Given the description of an element on the screen output the (x, y) to click on. 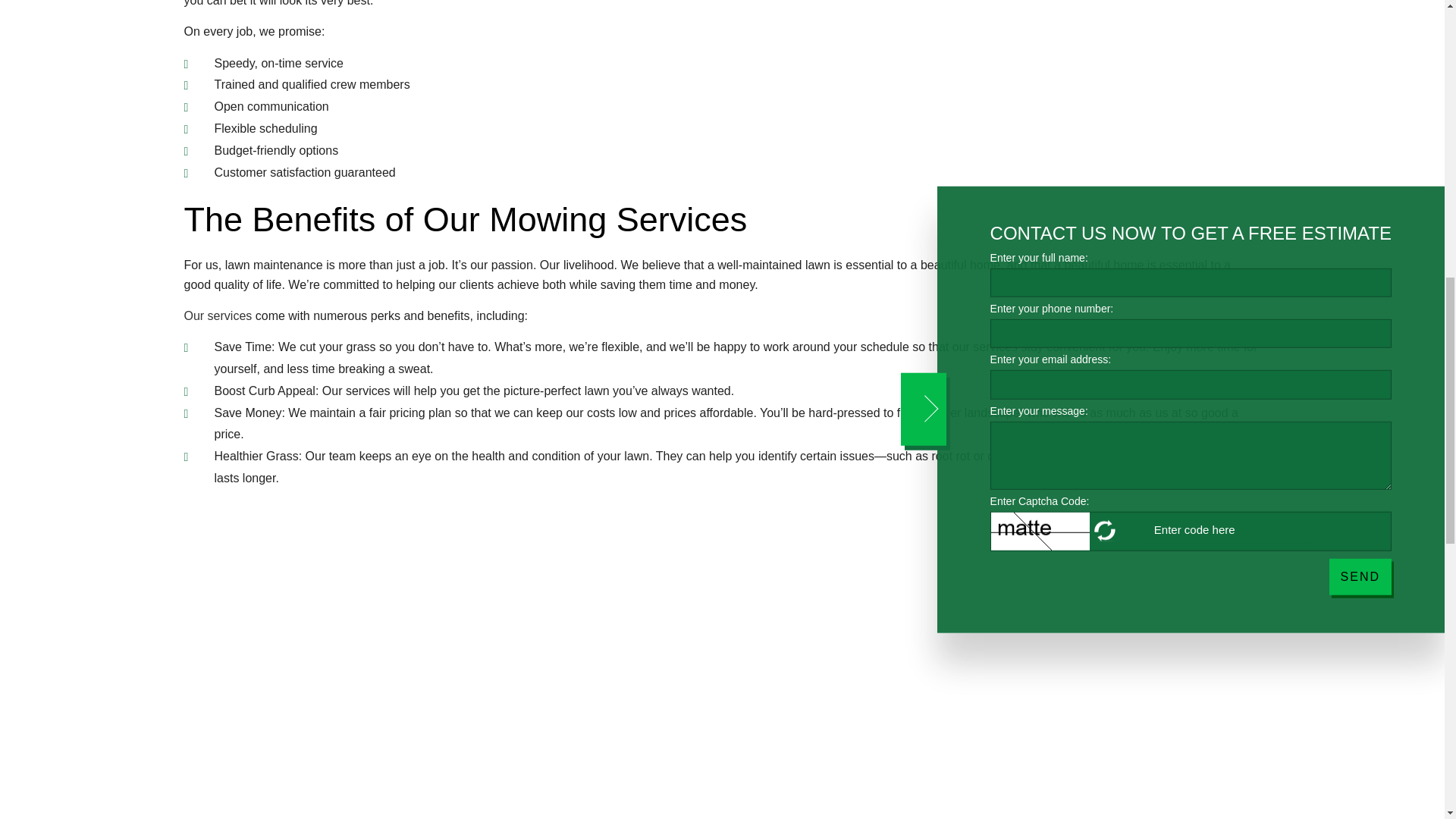
landscaping company (217, 315)
